Given the description of an element on the screen output the (x, y) to click on. 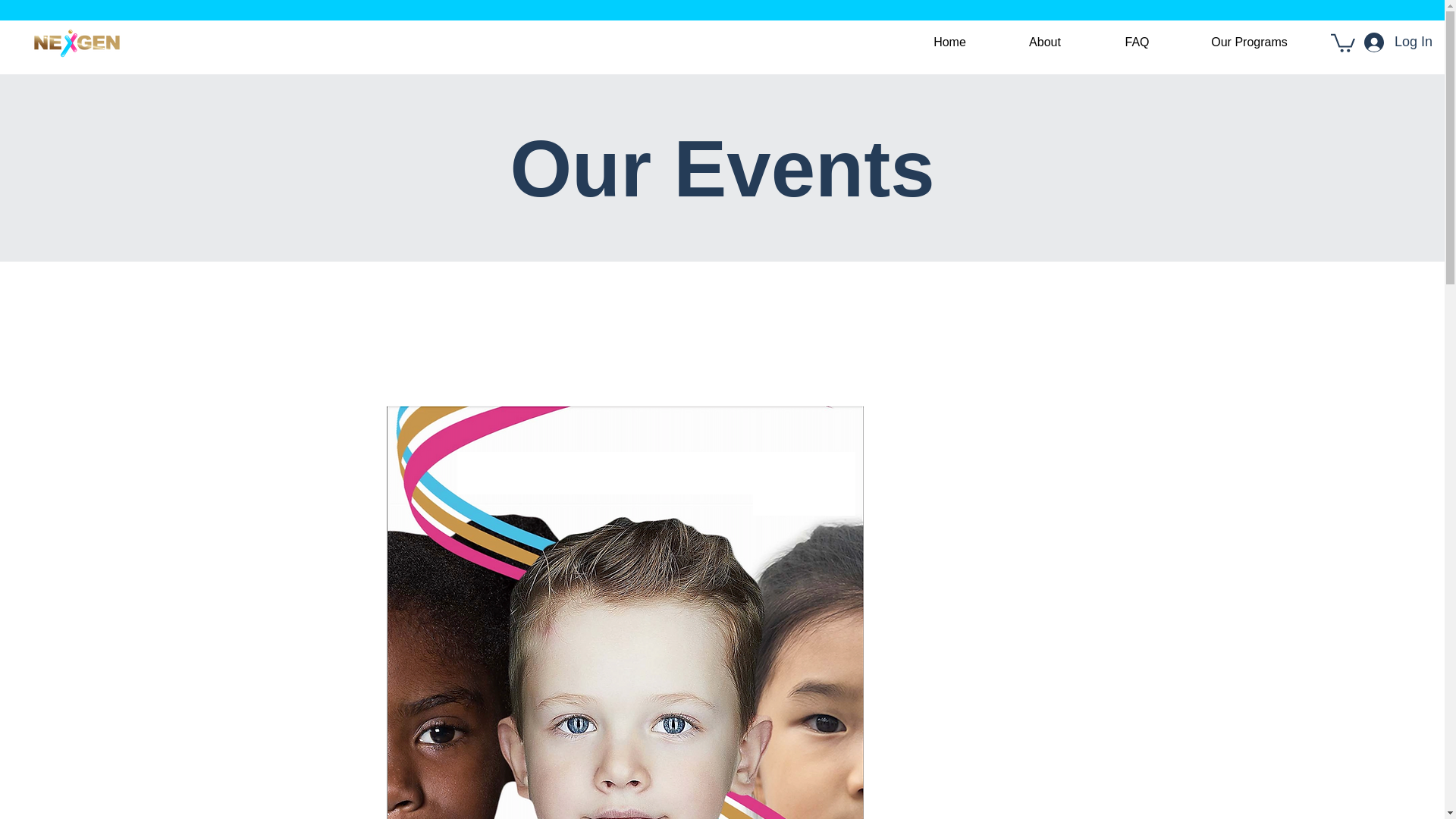
Home (949, 42)
FAQ (1136, 42)
Our Programs (1248, 42)
About (1045, 42)
Log In (1398, 41)
